Given the description of an element on the screen output the (x, y) to click on. 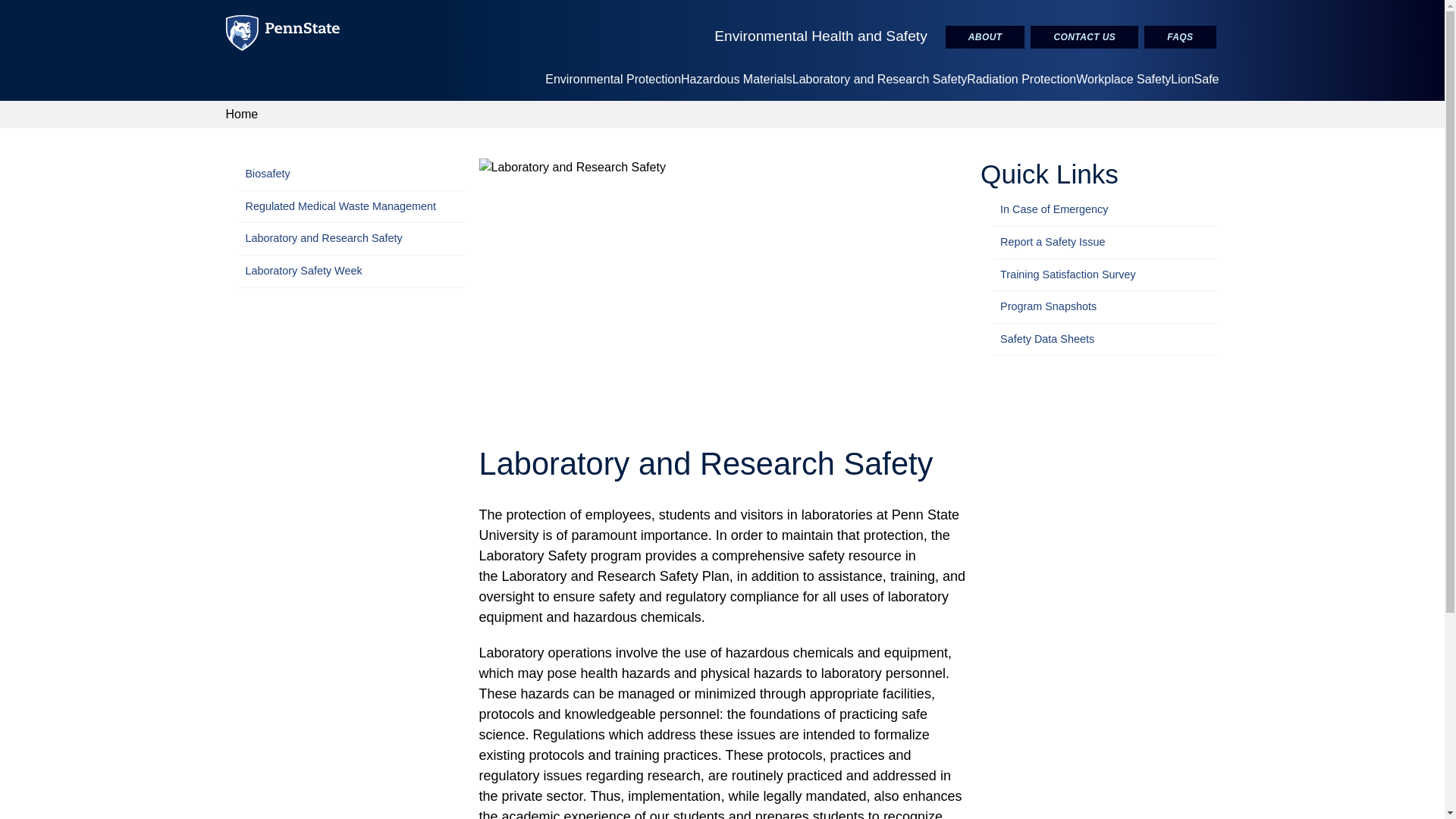
Environmental Health and Safety (820, 36)
CONTACT US (1084, 36)
ABOUT (984, 36)
FAQS (1179, 36)
Environmental Protection (612, 79)
